Given the description of an element on the screen output the (x, y) to click on. 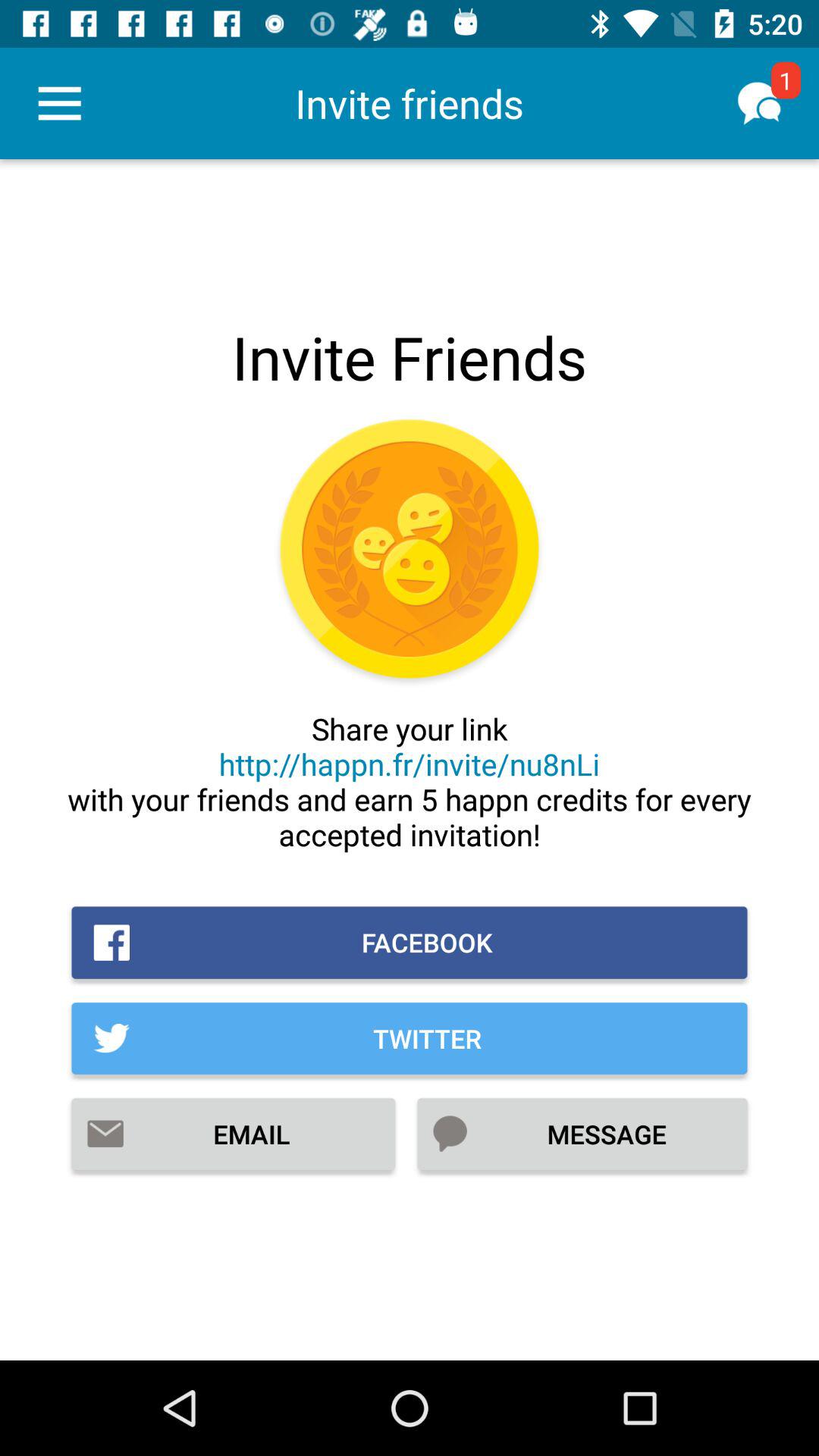
open icon above the twitter icon (409, 942)
